Given the description of an element on the screen output the (x, y) to click on. 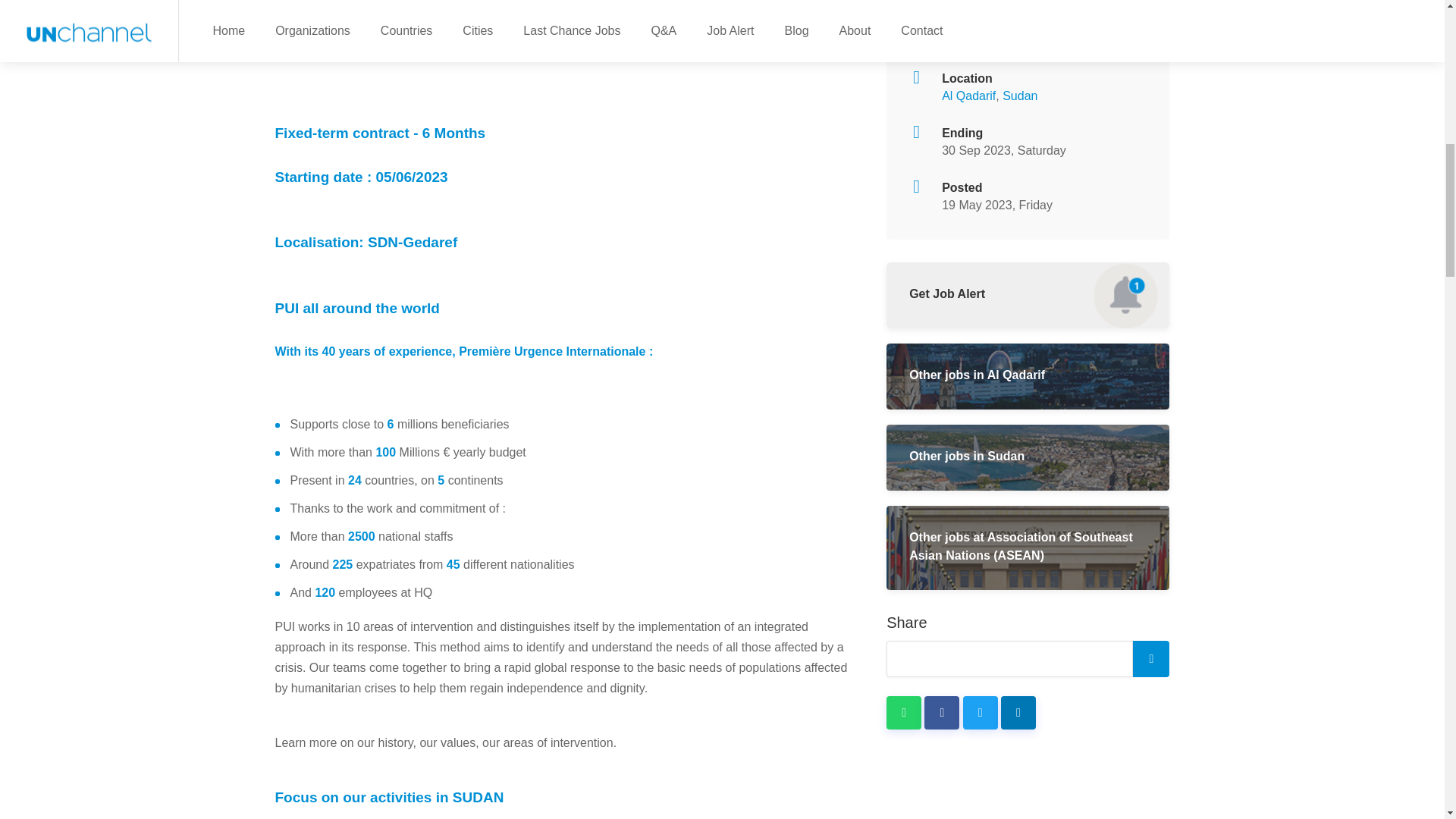
UN jobs in Al Qadarif (968, 95)
Get Job Alert (1027, 295)
Other jobs in Sudan (1027, 457)
Sudan (1019, 95)
UN jobs in Sudan (1019, 95)
Other jobs in Al Qadarif (1027, 376)
Al Qadarif (968, 95)
